Given the description of an element on the screen output the (x, y) to click on. 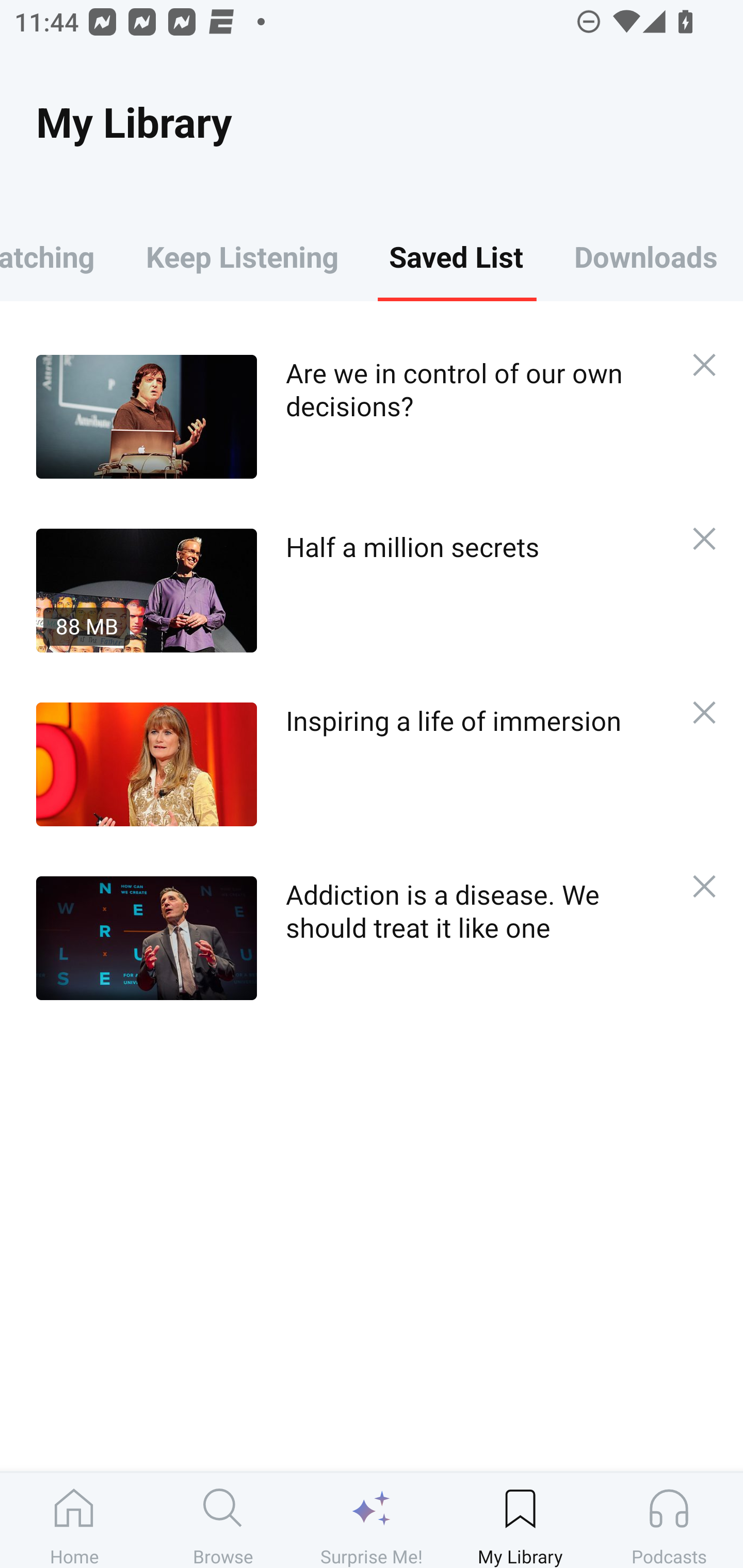
Keep Watching (60, 256)
Keep Listening (242, 256)
Saved List (456, 256)
Downloads (646, 256)
Are we in control of our own decisions? (353, 416)
88 MB Half a million secrets (353, 590)
Inspiring a life of immersion (353, 764)
Home (74, 1520)
Browse (222, 1520)
Surprise Me! (371, 1520)
My Library (519, 1520)
Podcasts (668, 1520)
